Given the description of an element on the screen output the (x, y) to click on. 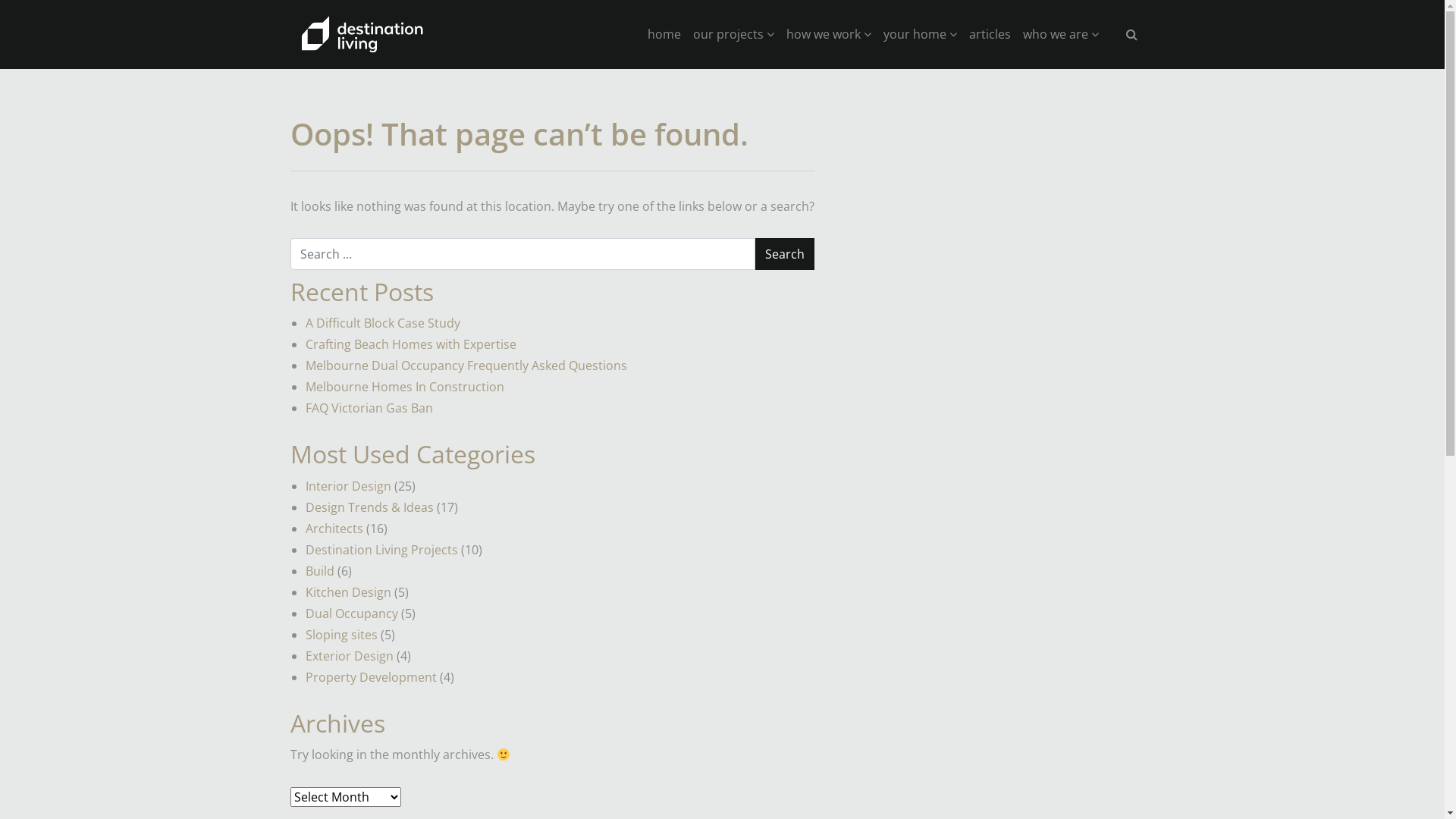
Design Trends & Ideas Element type: text (368, 506)
Kitchen Design Element type: text (347, 591)
Property Development Element type: text (370, 676)
Melbourne Dual Occupancy Frequently Asked Questions Element type: text (465, 365)
Dual Occupancy Element type: text (350, 613)
Search Element type: text (784, 253)
A Difficult Block Case Study Element type: text (381, 322)
Destination Living Element type: hover (362, 34)
home Element type: text (664, 34)
who we are Element type: text (1060, 34)
your home Element type: text (919, 34)
Build Element type: text (318, 570)
how we work Element type: text (827, 34)
Exterior Design Element type: text (348, 655)
Sloping sites Element type: text (340, 634)
articles Element type: text (989, 34)
Interior Design Element type: text (347, 485)
Architects Element type: text (333, 528)
Crafting Beach Homes with Expertise Element type: text (409, 343)
Destination Living Projects Element type: text (380, 549)
our projects Element type: text (733, 34)
Melbourne Homes In Construction Element type: text (403, 386)
FAQ Victorian Gas Ban Element type: text (368, 407)
